Given the description of an element on the screen output the (x, y) to click on. 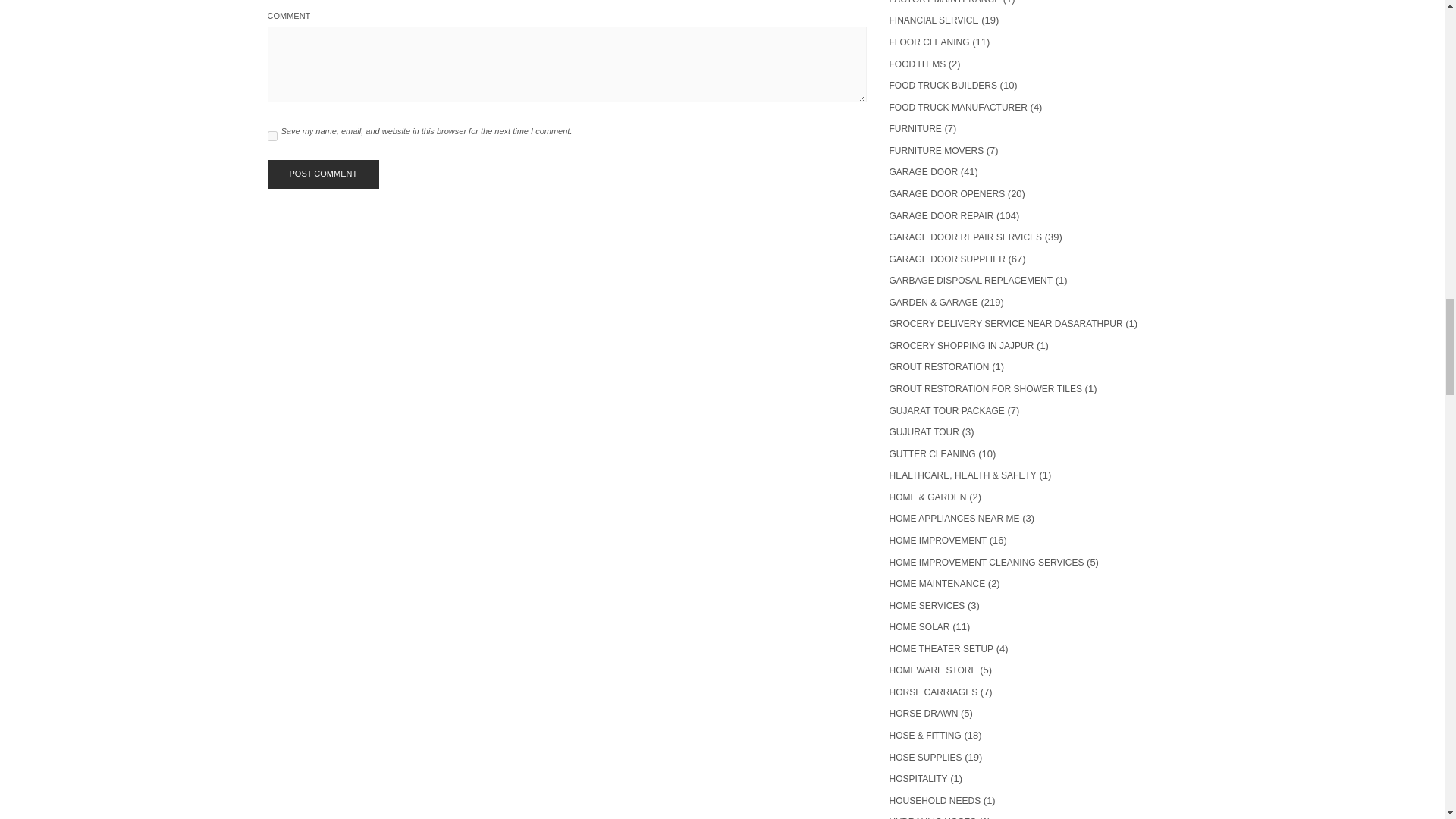
yes (271, 135)
Post Comment (322, 174)
Post Comment (322, 174)
